Given the description of an element on the screen output the (x, y) to click on. 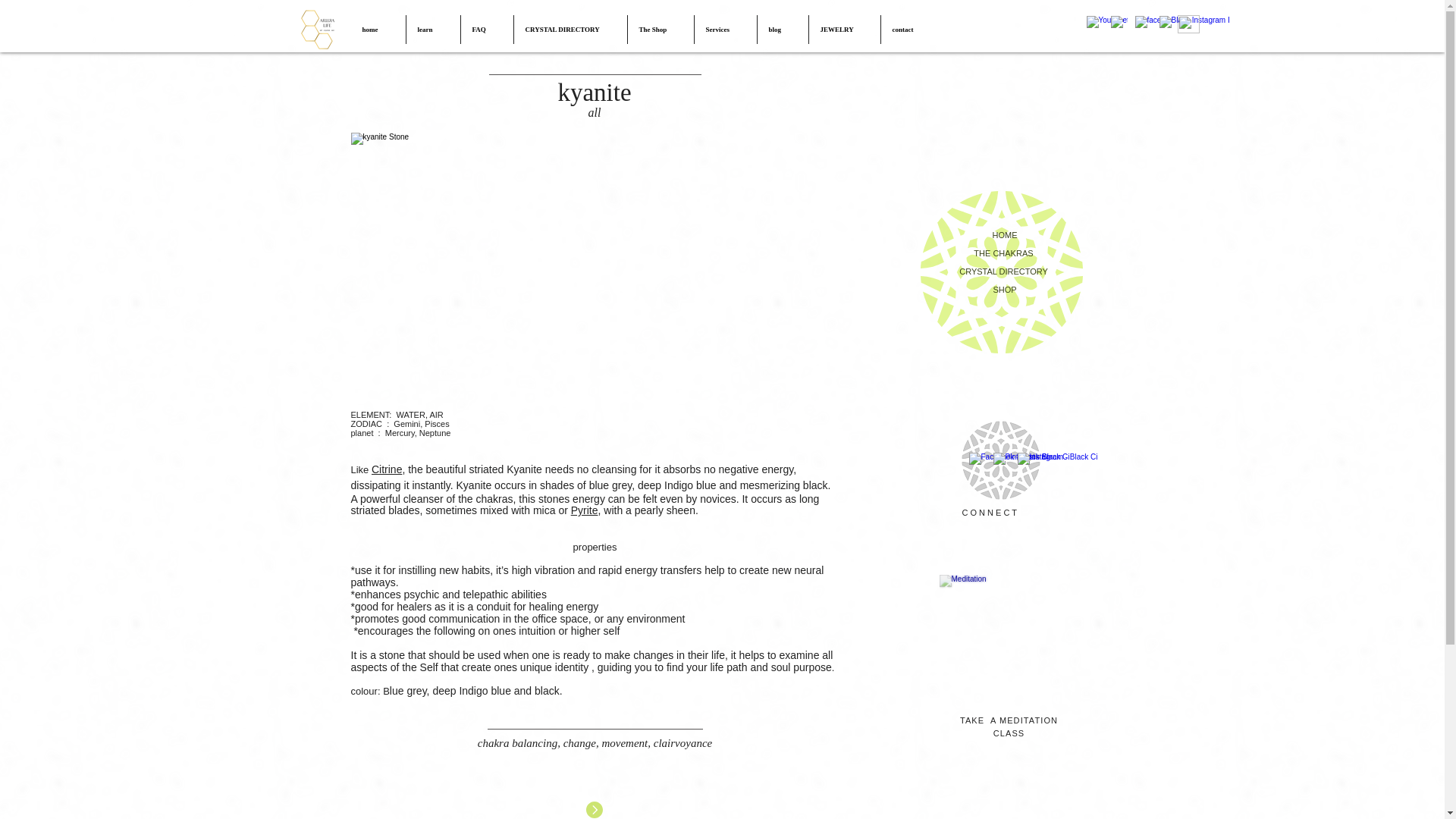
contact (910, 29)
HOME (1003, 234)
Services (725, 29)
Citrine (386, 469)
CRYSTAL DIRECTORY  (1004, 271)
JEWELRY (843, 29)
THE CHAKRAS  (1004, 252)
home (377, 29)
WATER, AIR (419, 414)
CRYSTAL DIRECTORY (570, 29)
FAQ (487, 29)
blog (782, 29)
The Shop (660, 29)
learn (433, 29)
Pyrite (584, 510)
